Given the description of an element on the screen output the (x, y) to click on. 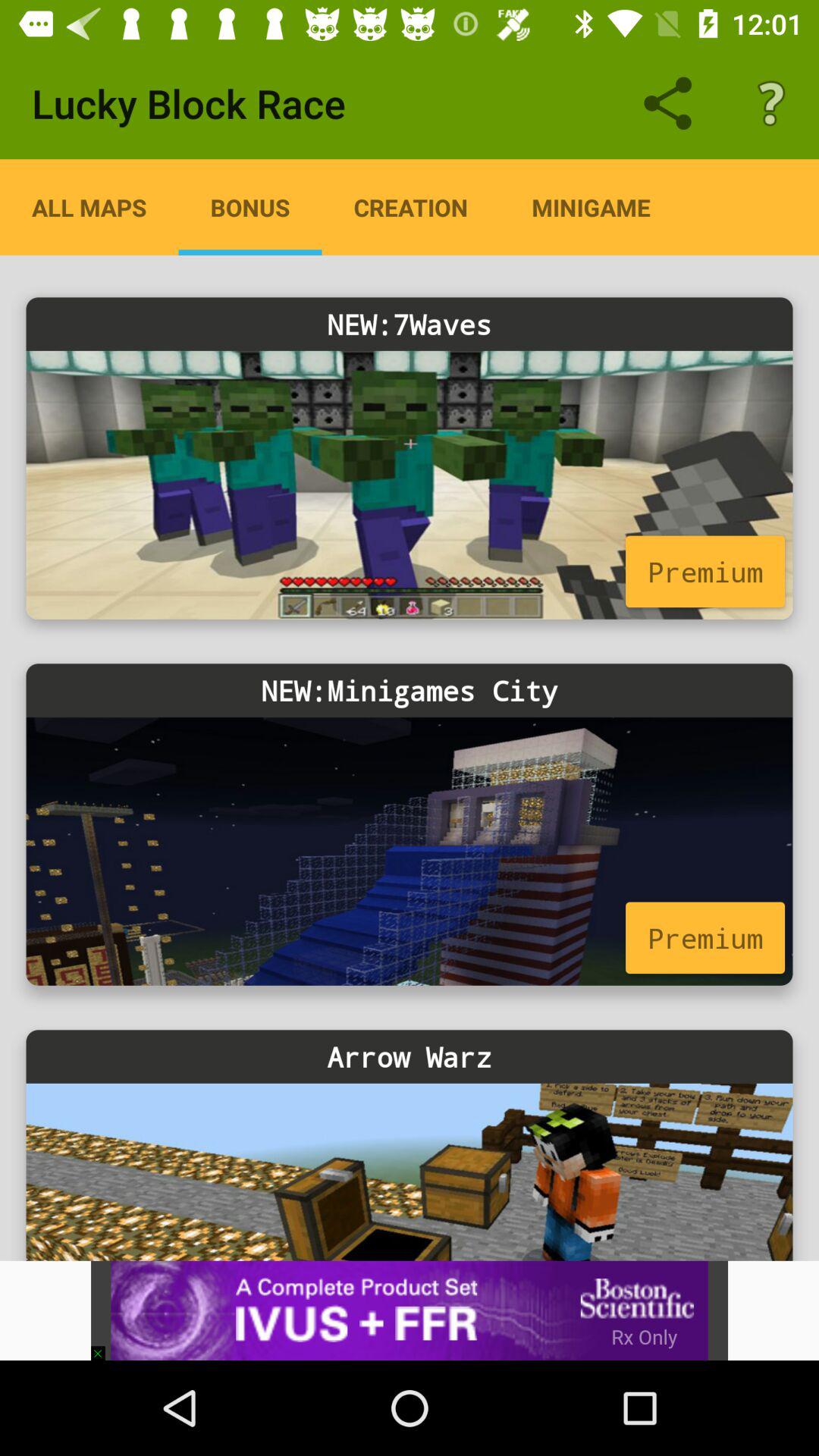
a picture of minecraft zombies when pressed leads to a bonus (409, 484)
